Given the description of an element on the screen output the (x, y) to click on. 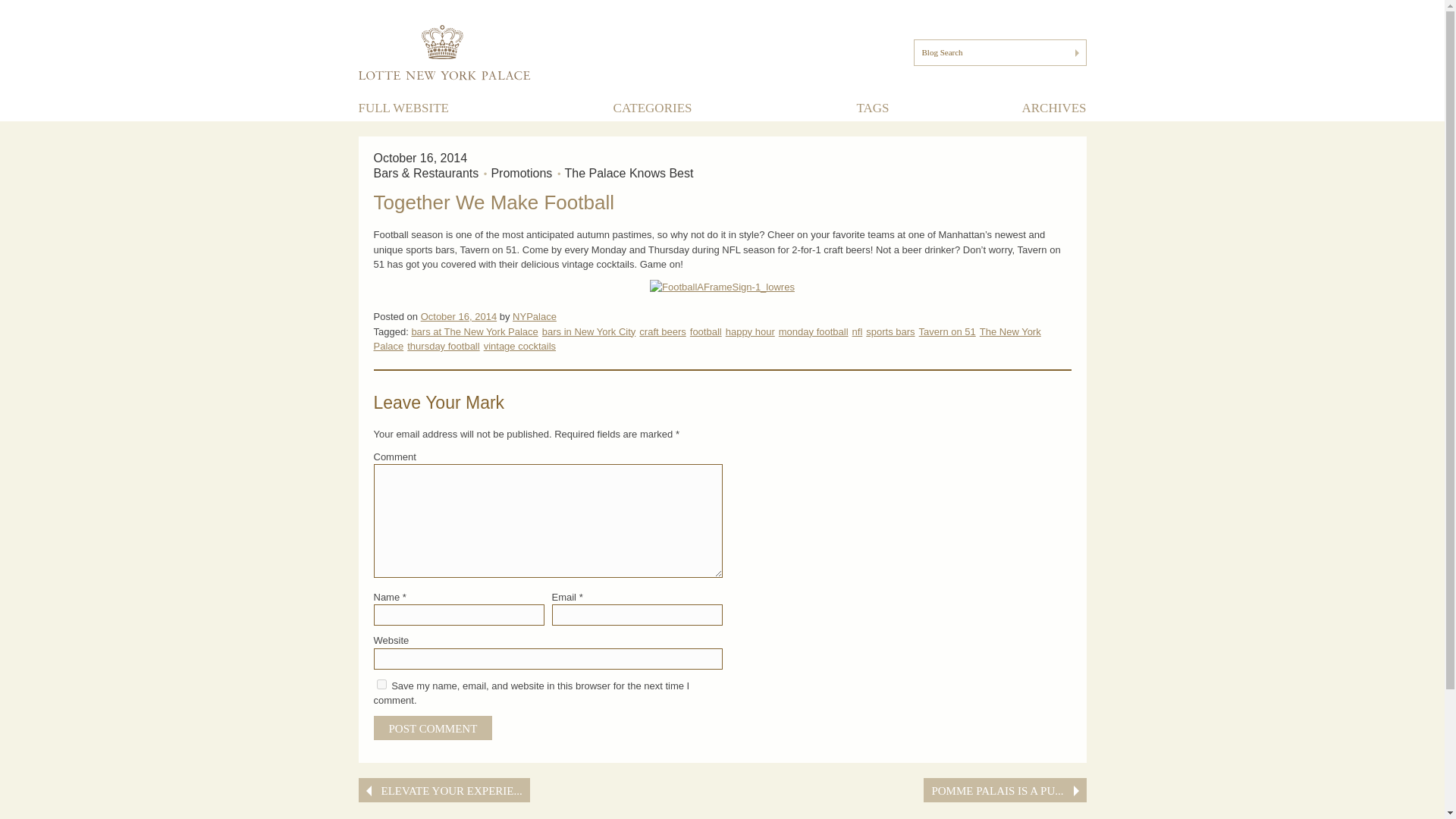
Post Comment (432, 727)
Like (954, 735)
yes (380, 684)
11:10 pm (458, 316)
Tweet (1006, 735)
View all posts by NYPalace (534, 316)
FULL WEBSITE (403, 107)
